Given the description of an element on the screen output the (x, y) to click on. 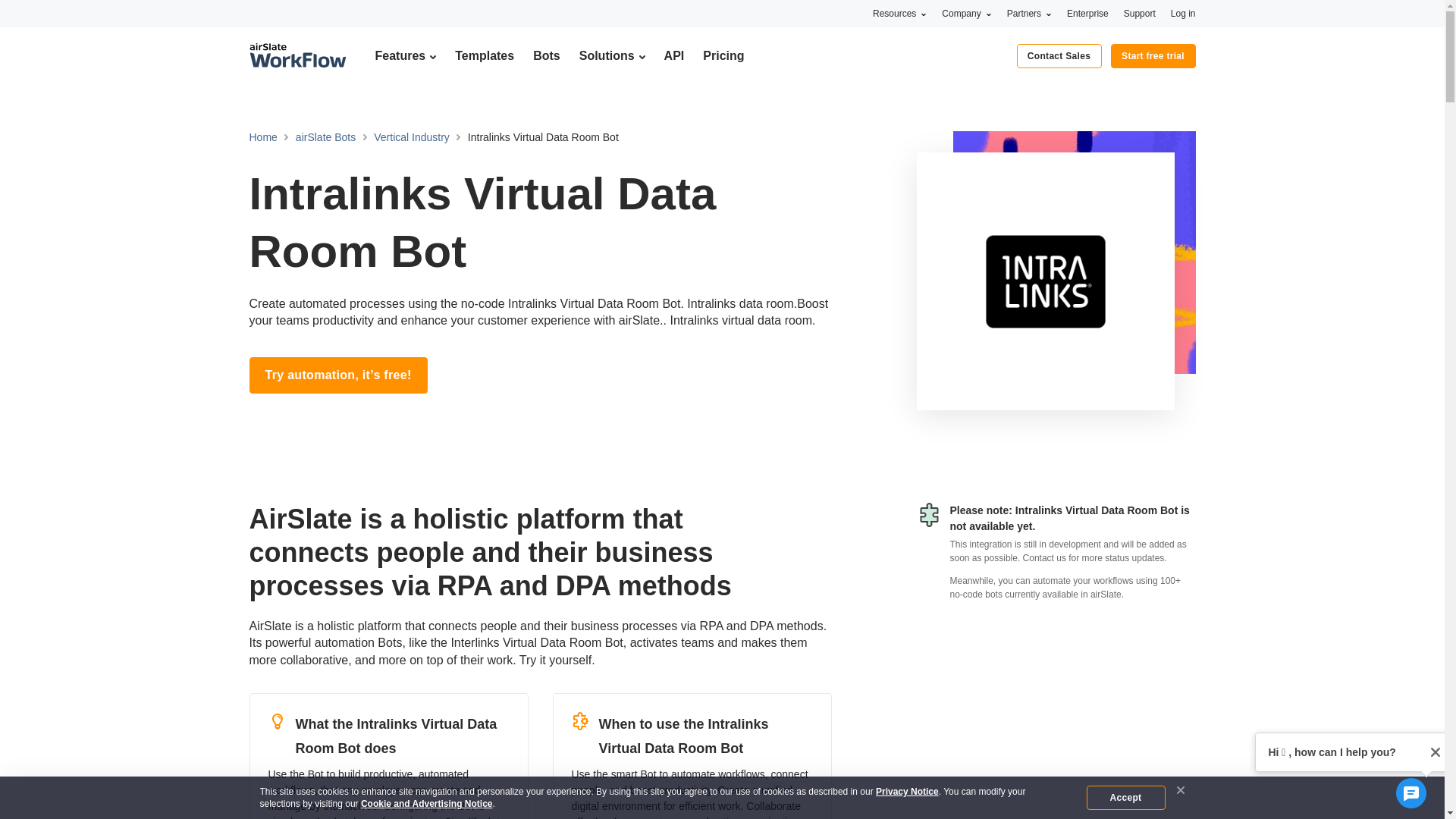
Resources (899, 13)
Support (1140, 13)
Partners (1029, 13)
Company (966, 13)
Templates (483, 55)
Enterprise (1087, 13)
Log in (1182, 13)
